Given the description of an element on the screen output the (x, y) to click on. 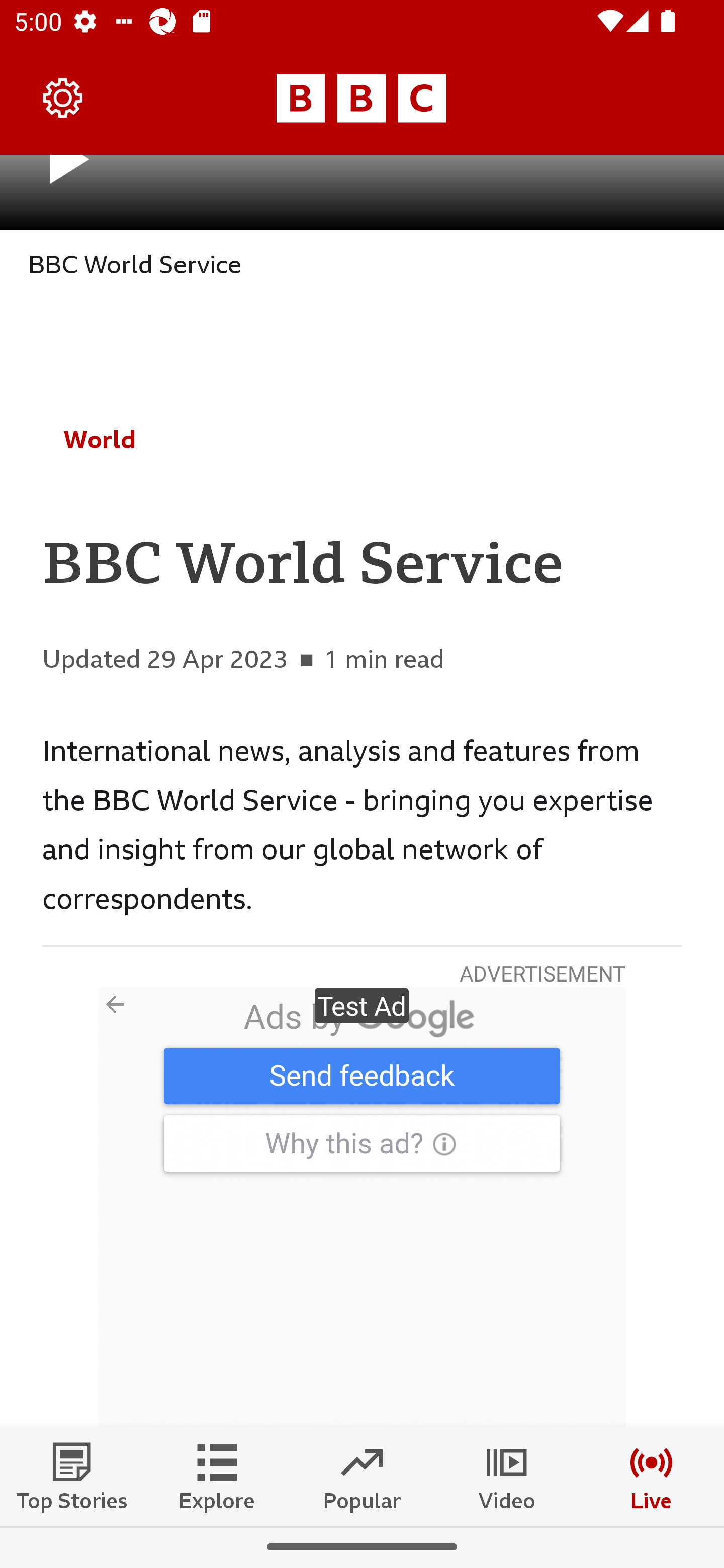
Settings (63, 97)
World (99, 438)
Fidelity javascript:window.open(window (361, 1206)
Top Stories (72, 1475)
Explore (216, 1475)
Popular (361, 1475)
Video (506, 1475)
